Given the description of an element on the screen output the (x, y) to click on. 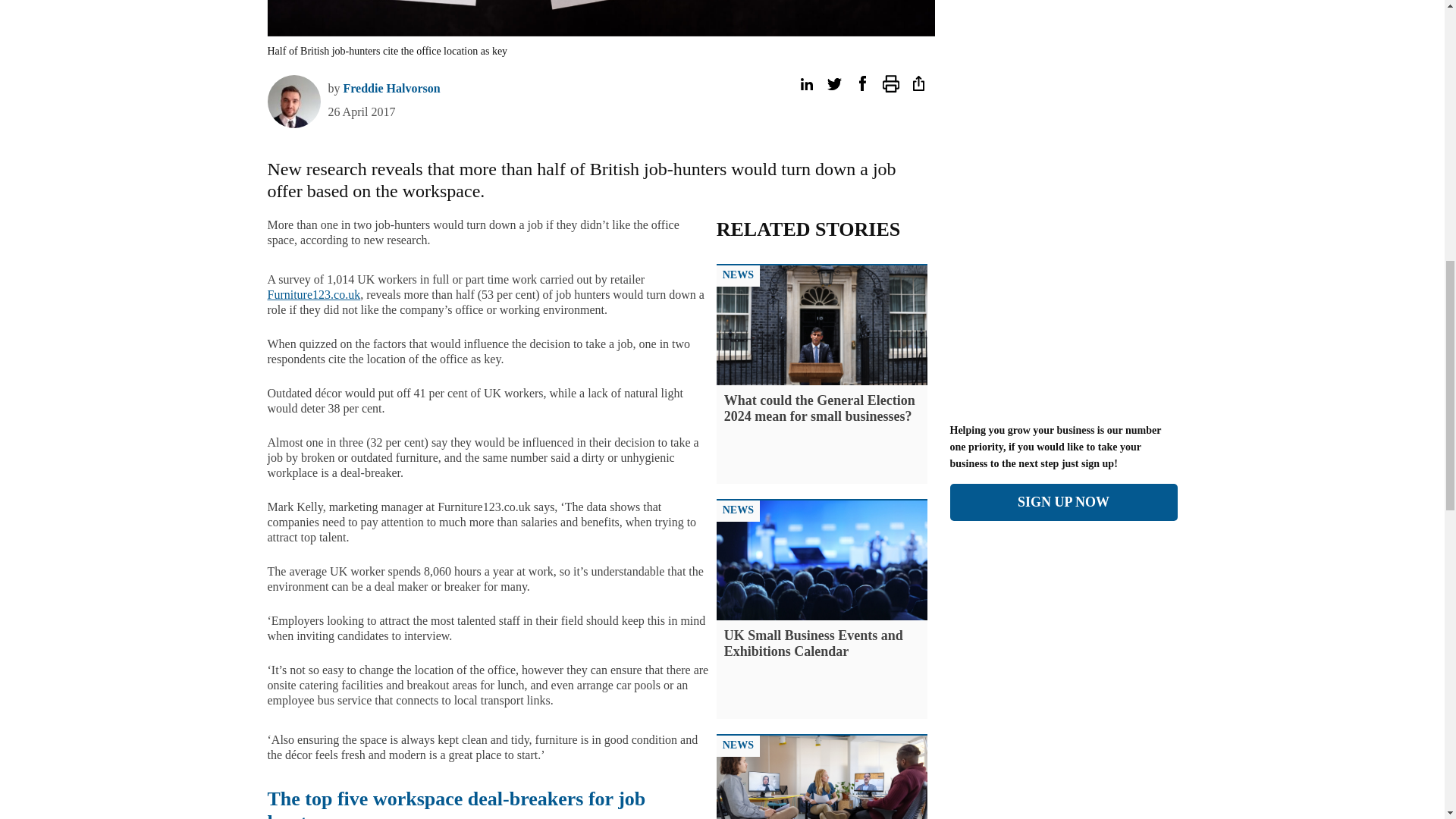
Tweet this article (835, 83)
3rd party ad content (195, 4)
Share on Facebook (861, 83)
3rd party ad content (1062, 4)
Print this article (890, 83)
Share on LinkedIn (805, 83)
3rd party ad content (1249, 4)
3rd party ad content (1062, 312)
